Given the description of an element on the screen output the (x, y) to click on. 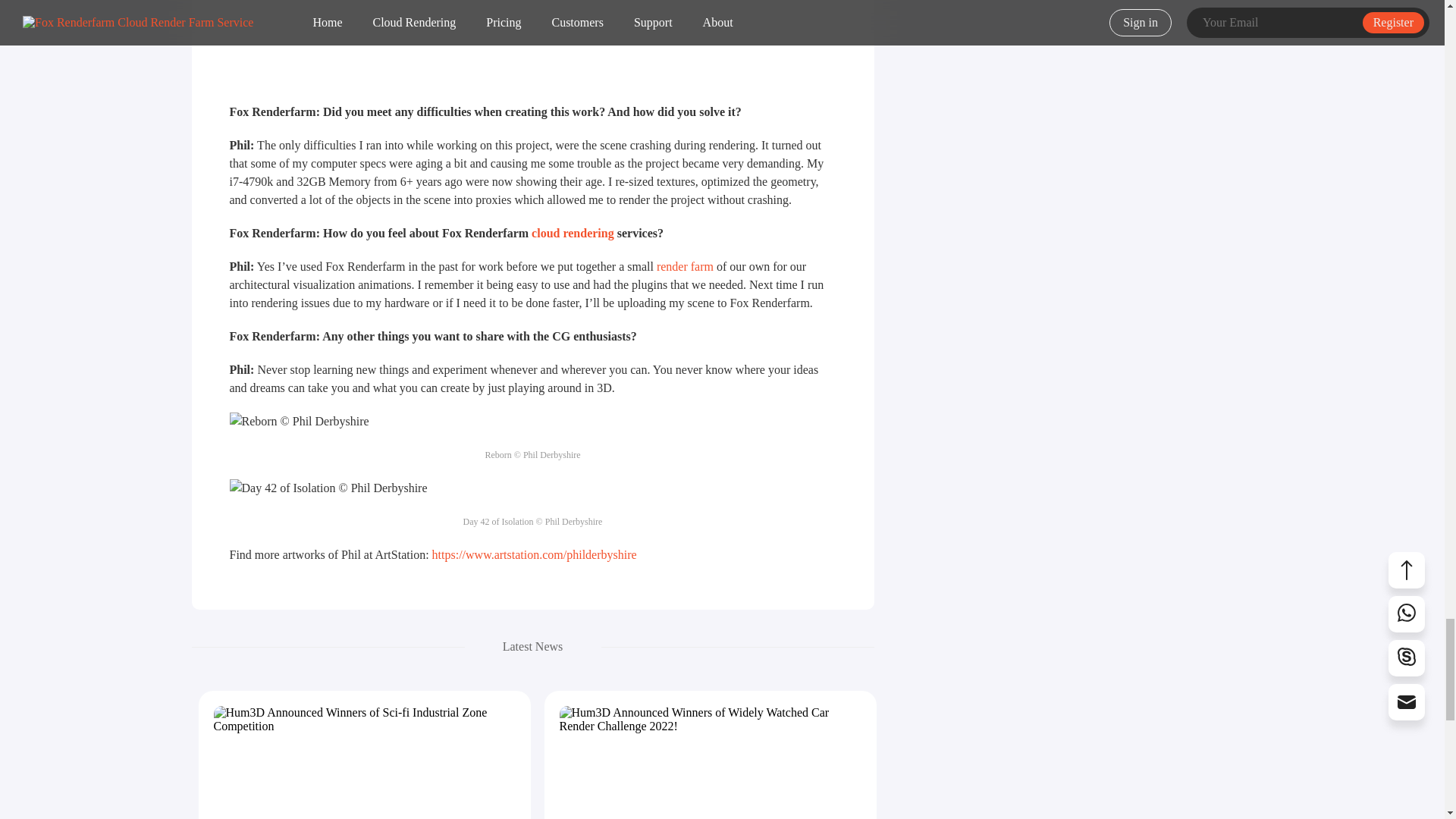
render farm (684, 266)
cloud rendering (572, 232)
cloud rendering (572, 232)
render farm (684, 266)
